Given the description of an element on the screen output the (x, y) to click on. 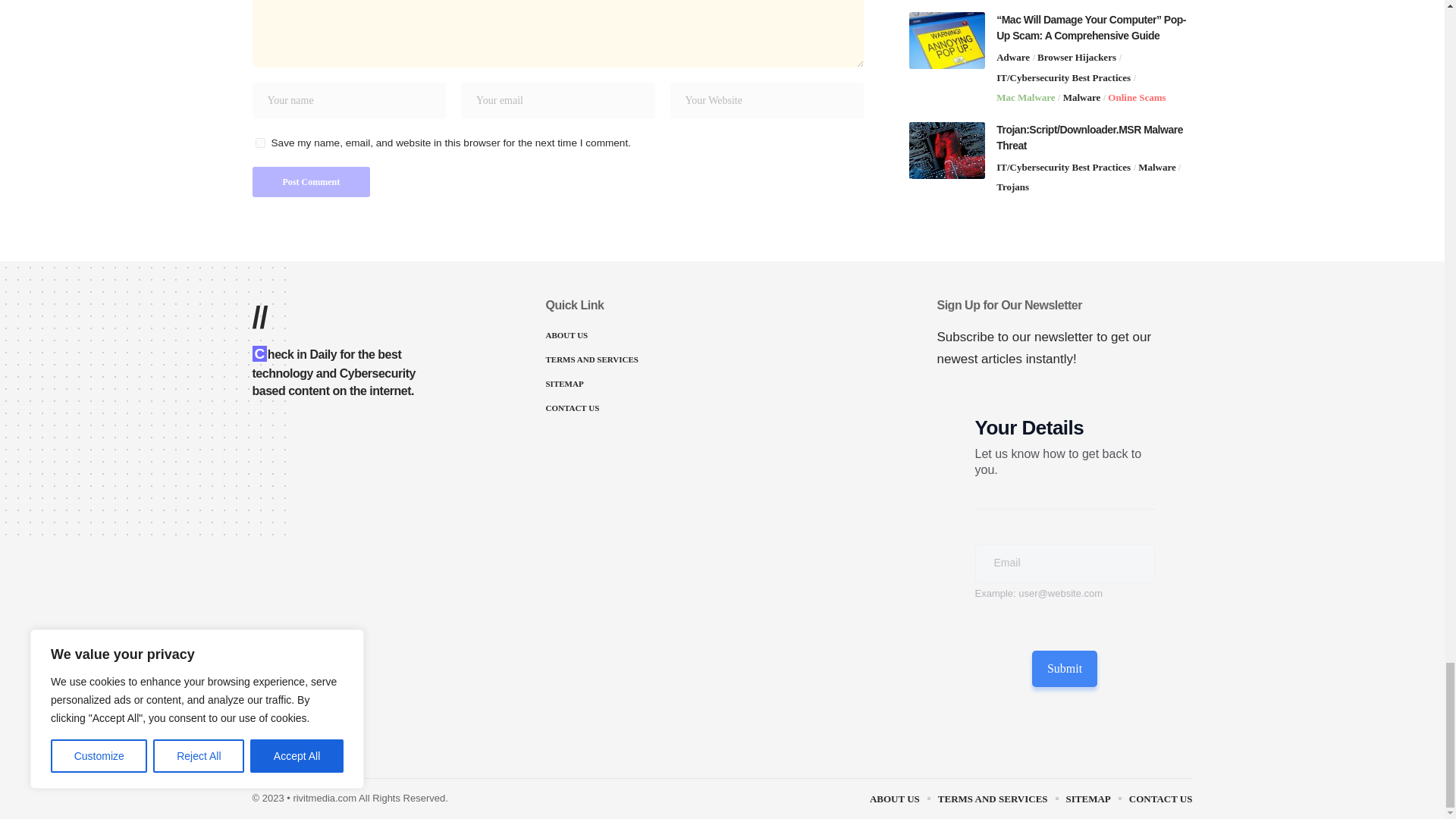
Post Comment (310, 182)
yes (259, 143)
